Given the description of an element on the screen output the (x, y) to click on. 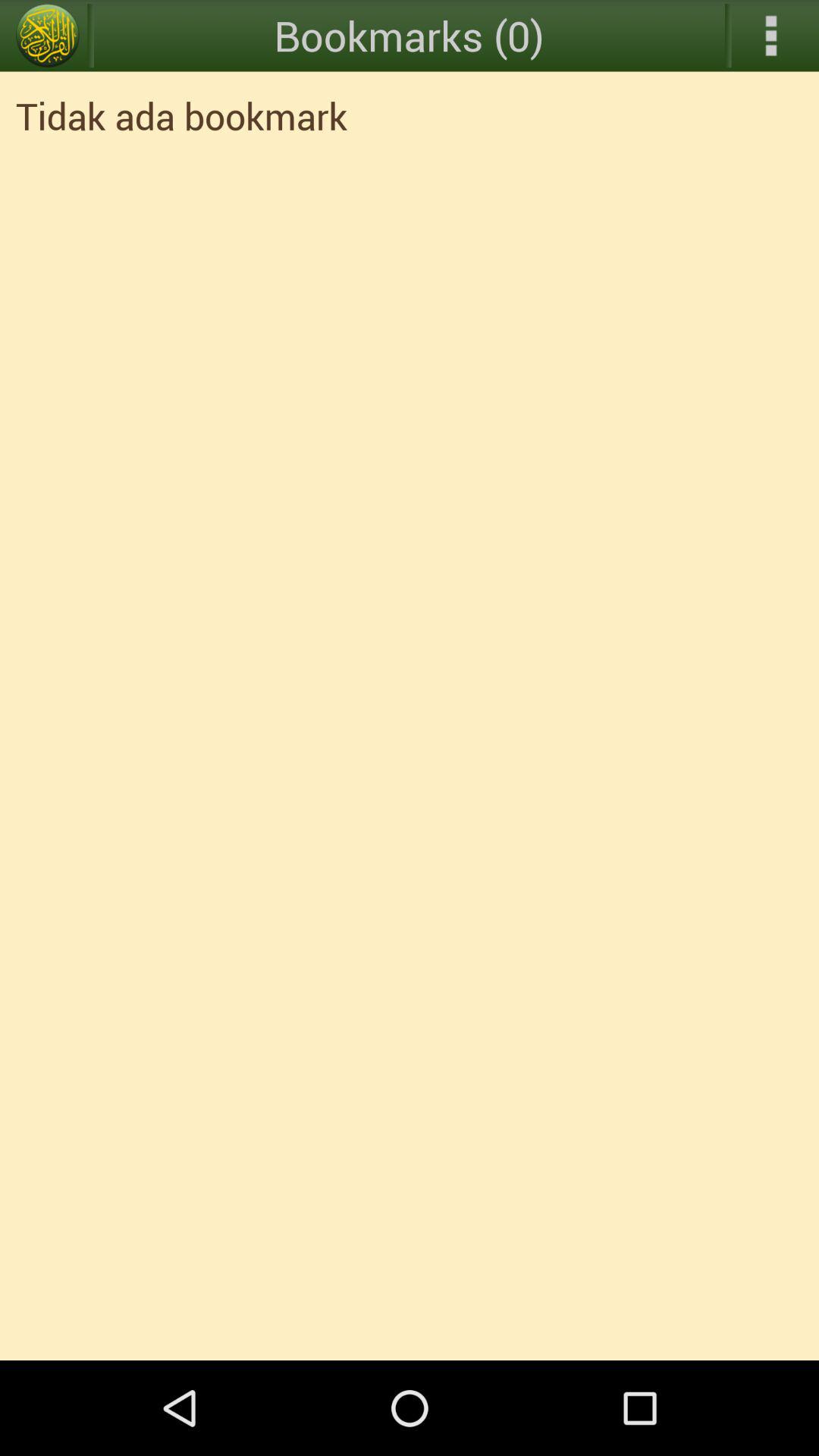
expand menu (771, 35)
